Given the description of an element on the screen output the (x, y) to click on. 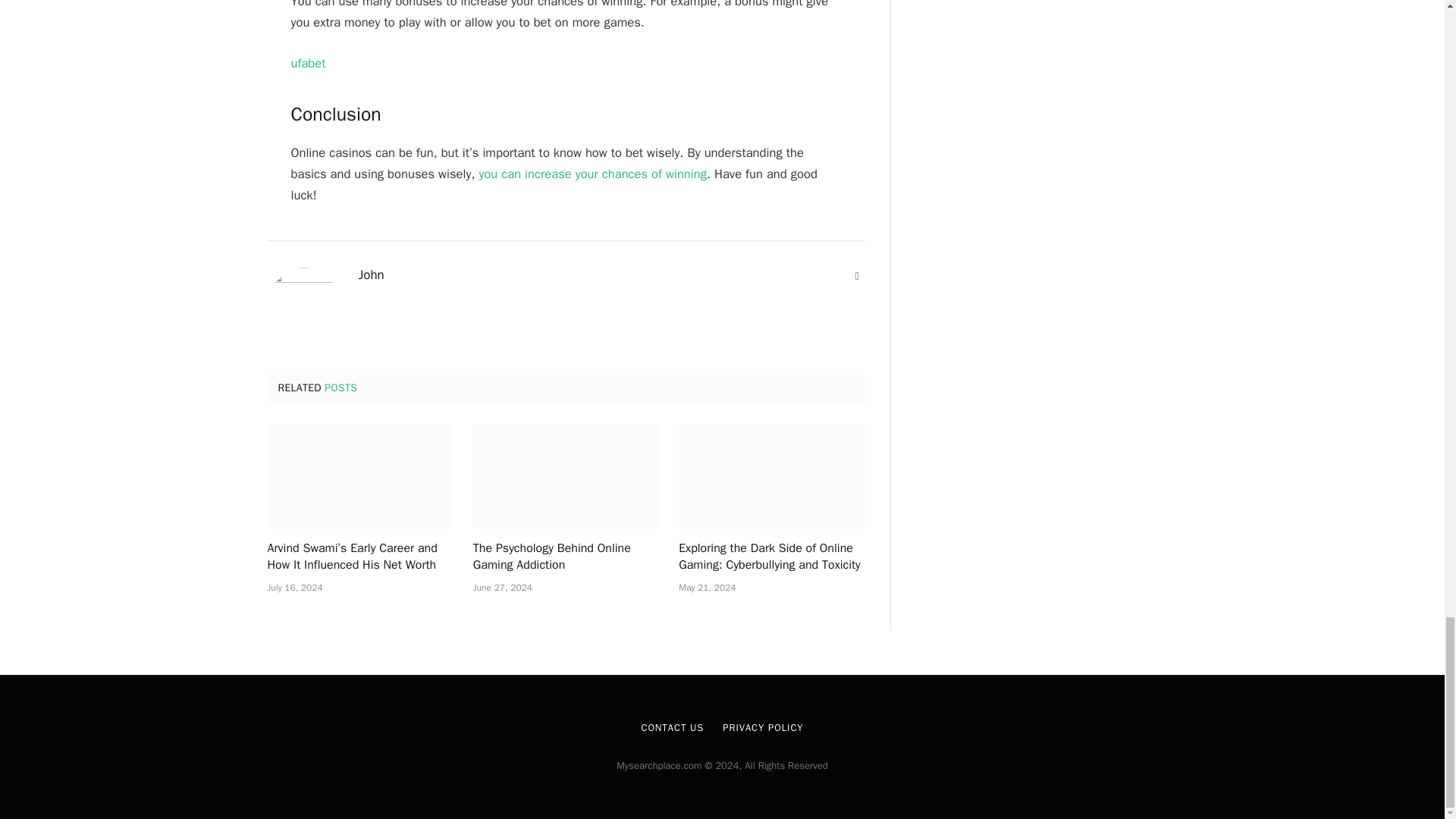
The Psychology Behind Online Gaming Addiction (566, 557)
you can increase your chances of winning (590, 173)
Website (856, 276)
The Psychology Behind Online Gaming Addiction (566, 476)
Posts by John (371, 274)
Website (856, 276)
ufabet (308, 63)
John (371, 274)
